Given the description of an element on the screen output the (x, y) to click on. 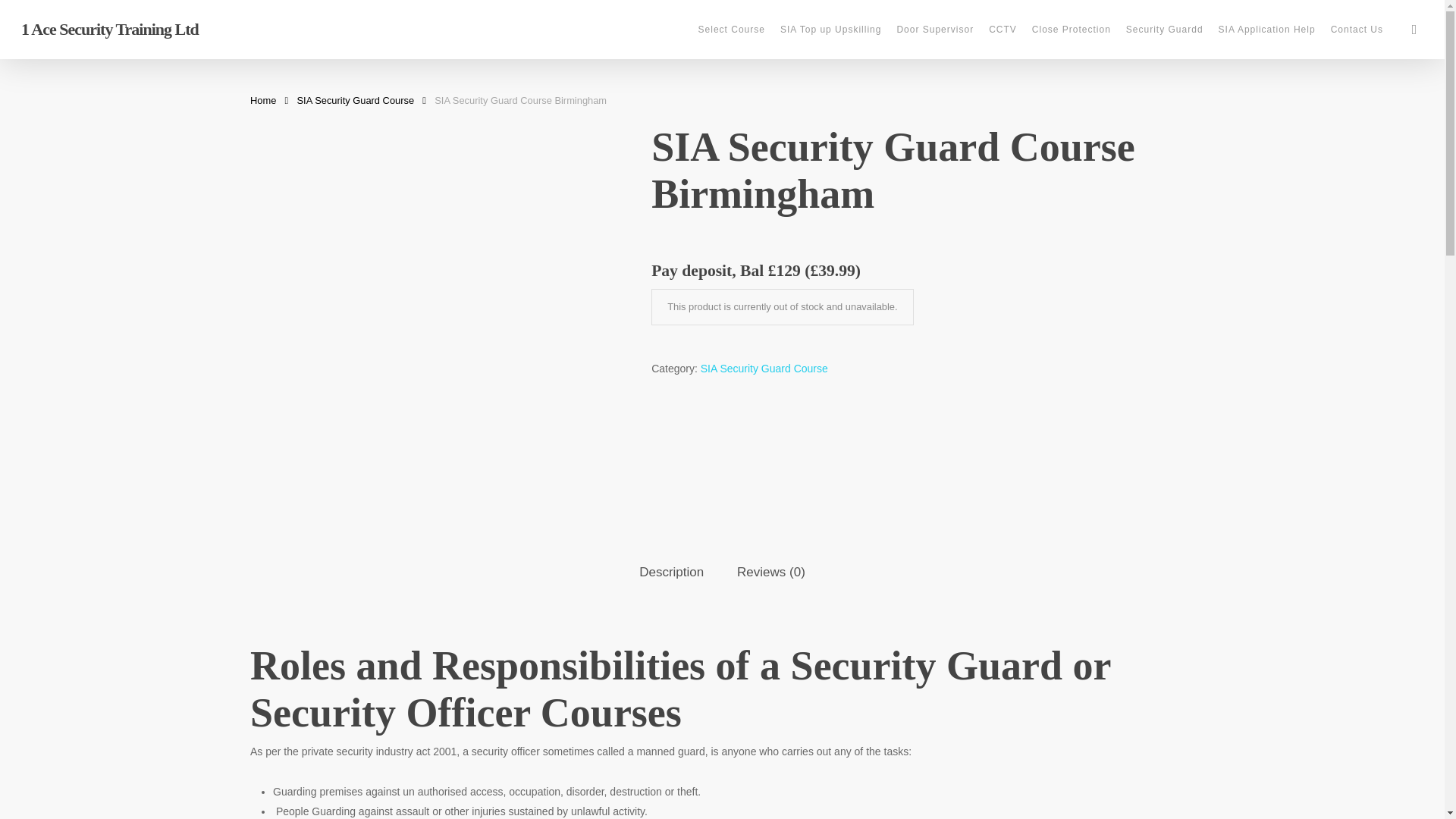
Close Protection (1071, 29)
CCTV (1003, 29)
search (1414, 29)
Description (671, 572)
SIA Security Guard Course (764, 368)
1 Ace Security Training Ltd (109, 29)
Home (263, 100)
Contact Us (1356, 29)
Select Course (731, 29)
SIA Security Guard Course (355, 100)
